Given the description of an element on the screen output the (x, y) to click on. 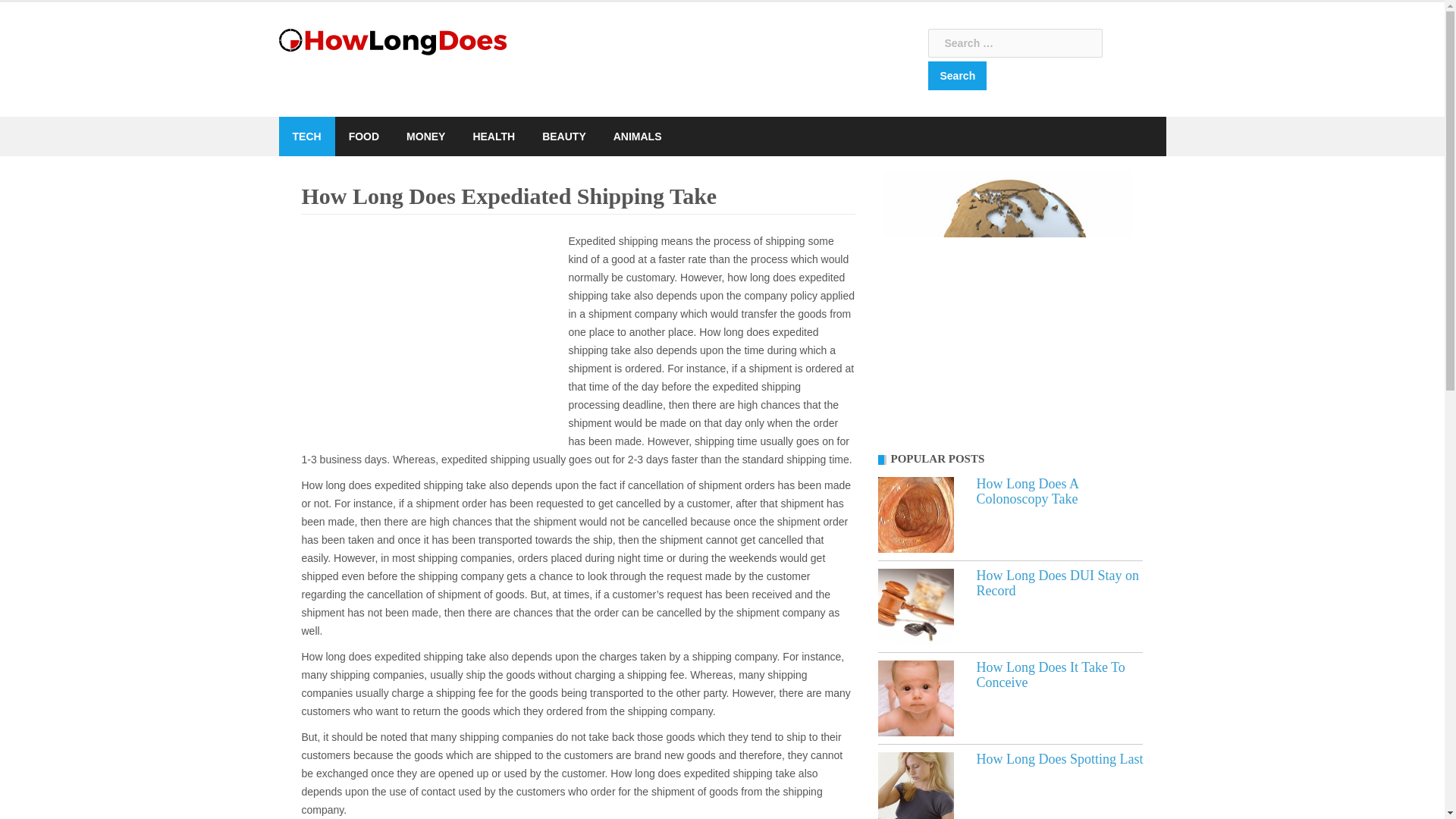
Search (957, 75)
How Long Does DUI Stay on Record (1057, 583)
MONEY (425, 136)
How Long Does It Take To Conceive (1050, 675)
BEAUTY (563, 136)
How Long Does A Colonoscopy Take (915, 514)
How Long Does Spotting Last (1059, 758)
How Long Does Spotting Last (915, 785)
How Long Does A Colonoscopy Take (1027, 490)
How Long Does It Take To Conceive (915, 698)
Search (957, 75)
ANIMALS (637, 136)
How Long Does A Colonoscopy Take (1027, 490)
How Long Does Spotting Last (1059, 758)
How Long Does DUI Stay on Record (915, 606)
